Given the description of an element on the screen output the (x, y) to click on. 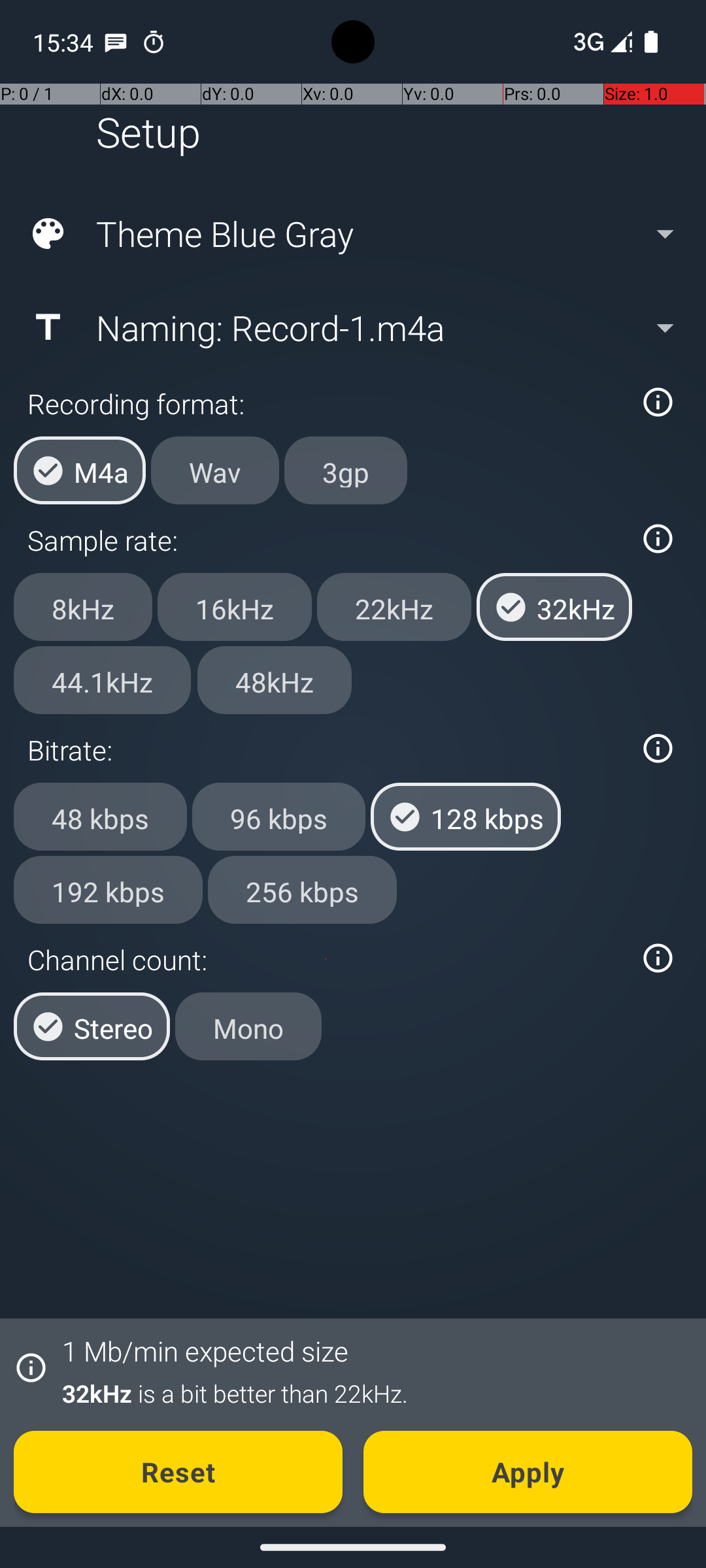
32kHz is a bit better than 22kHz. Element type: android.widget.TextView (370, 1392)
